Given the description of an element on the screen output the (x, y) to click on. 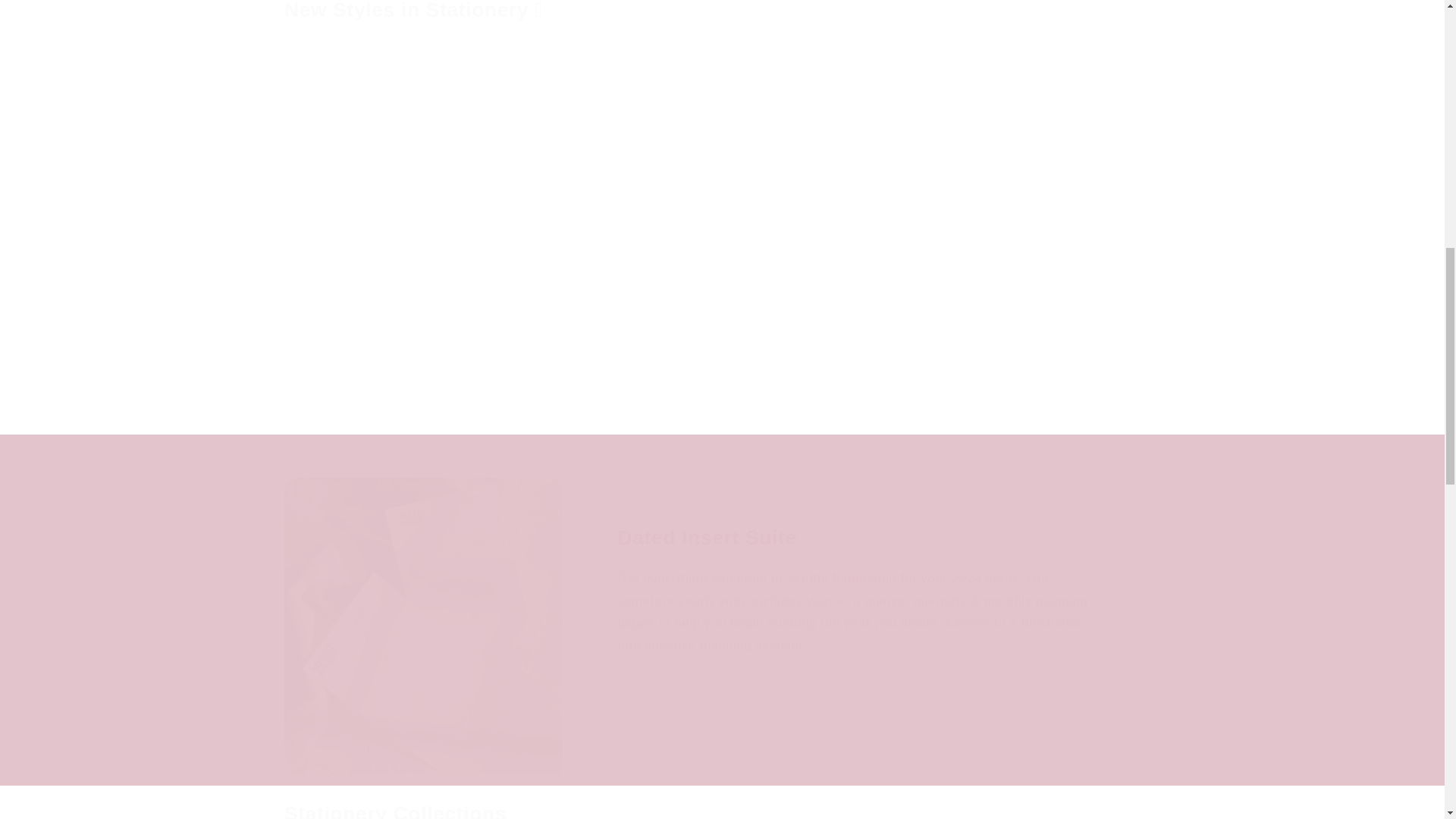
Sold out (834, 385)
Add to cart (384, 385)
Monthly Desk Notepad (610, 323)
Stationery Collections (394, 810)
Add to cart (610, 385)
Weekly Desk Notepad (833, 323)
Monthly Overview Insert (385, 323)
